Given the description of an element on the screen output the (x, y) to click on. 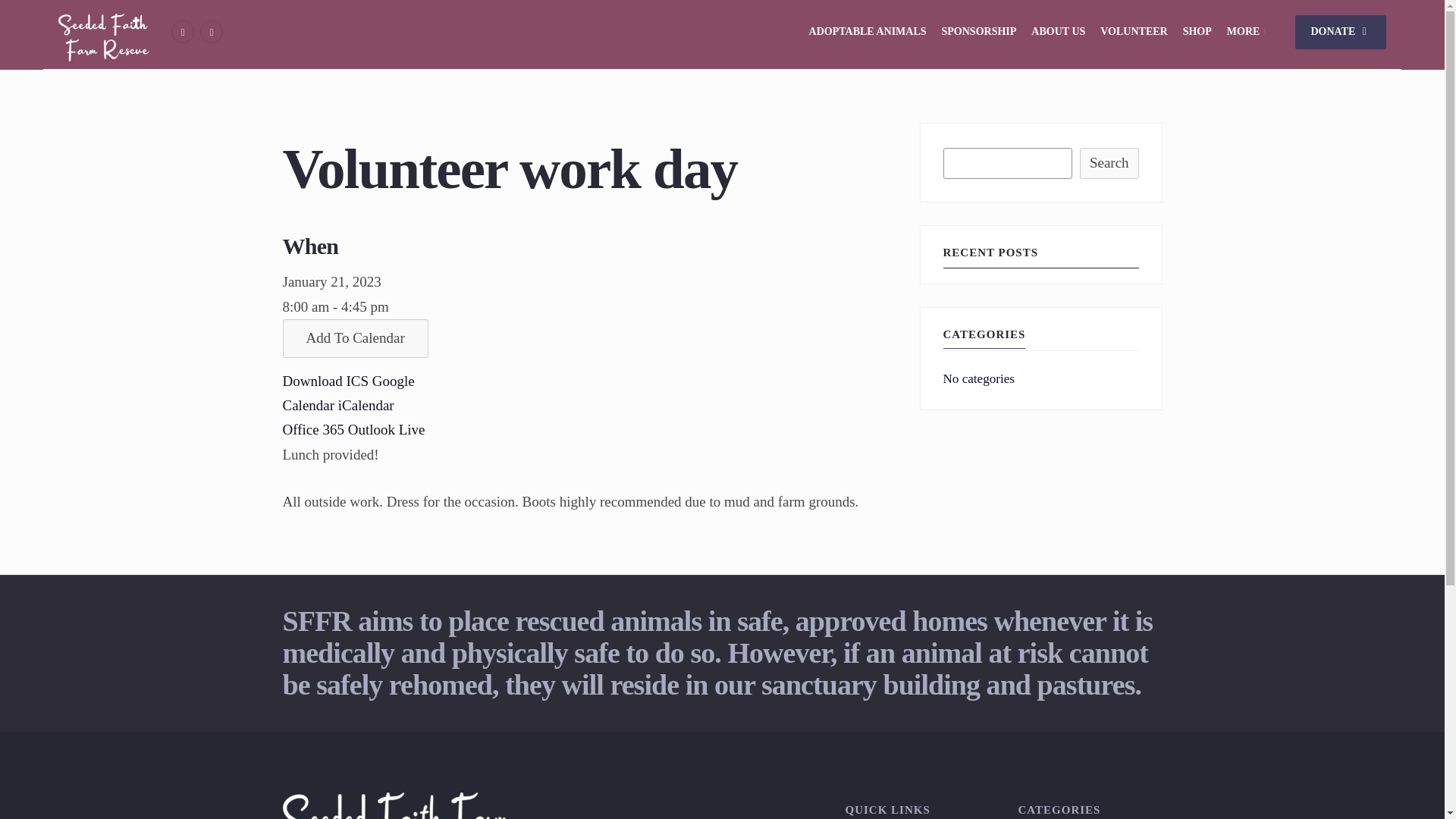
Google Calendar (347, 393)
Add To Calendar (355, 338)
iCalendar (365, 405)
Outlook Live (386, 429)
ABOUT US (1057, 31)
ADOPTABLE ANIMALS (867, 31)
MORE (1248, 31)
Office 365 (312, 429)
DONATE (1340, 32)
TikTok (211, 31)
